Given the description of an element on the screen output the (x, y) to click on. 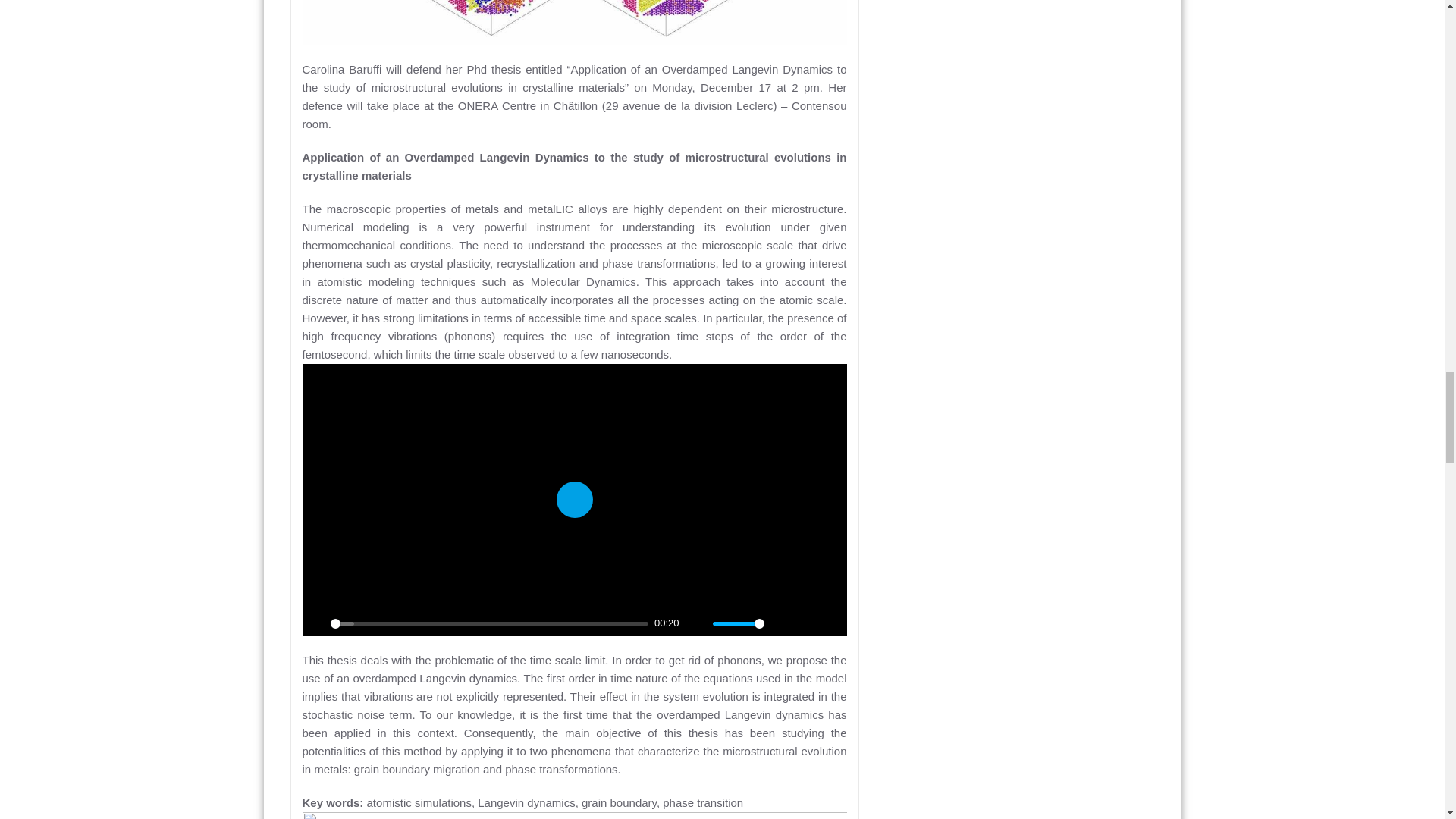
PIP (808, 623)
Settings (782, 623)
Play (313, 623)
1 (738, 623)
0 (489, 623)
Mute (696, 623)
